Given the description of an element on the screen output the (x, y) to click on. 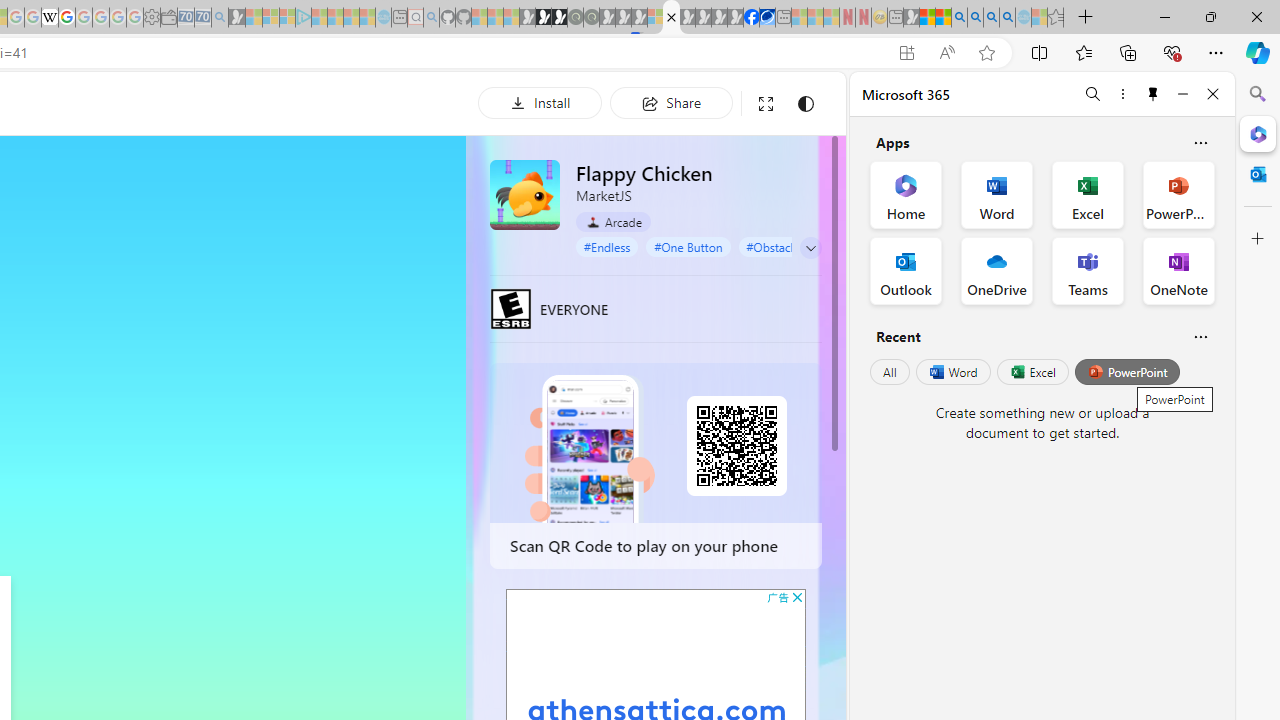
Excel (1031, 372)
Bing AI - Search (959, 17)
Teams Office App (1087, 270)
Google Chrome Internet Browser Download - Search Images (1007, 17)
OneNote Office App (1178, 270)
Flappy Chicken (525, 194)
AutomationID: cbb (797, 596)
Favorites - Sleeping (1055, 17)
Word Office App (996, 194)
Arcade (613, 221)
